Given the description of an element on the screen output the (x, y) to click on. 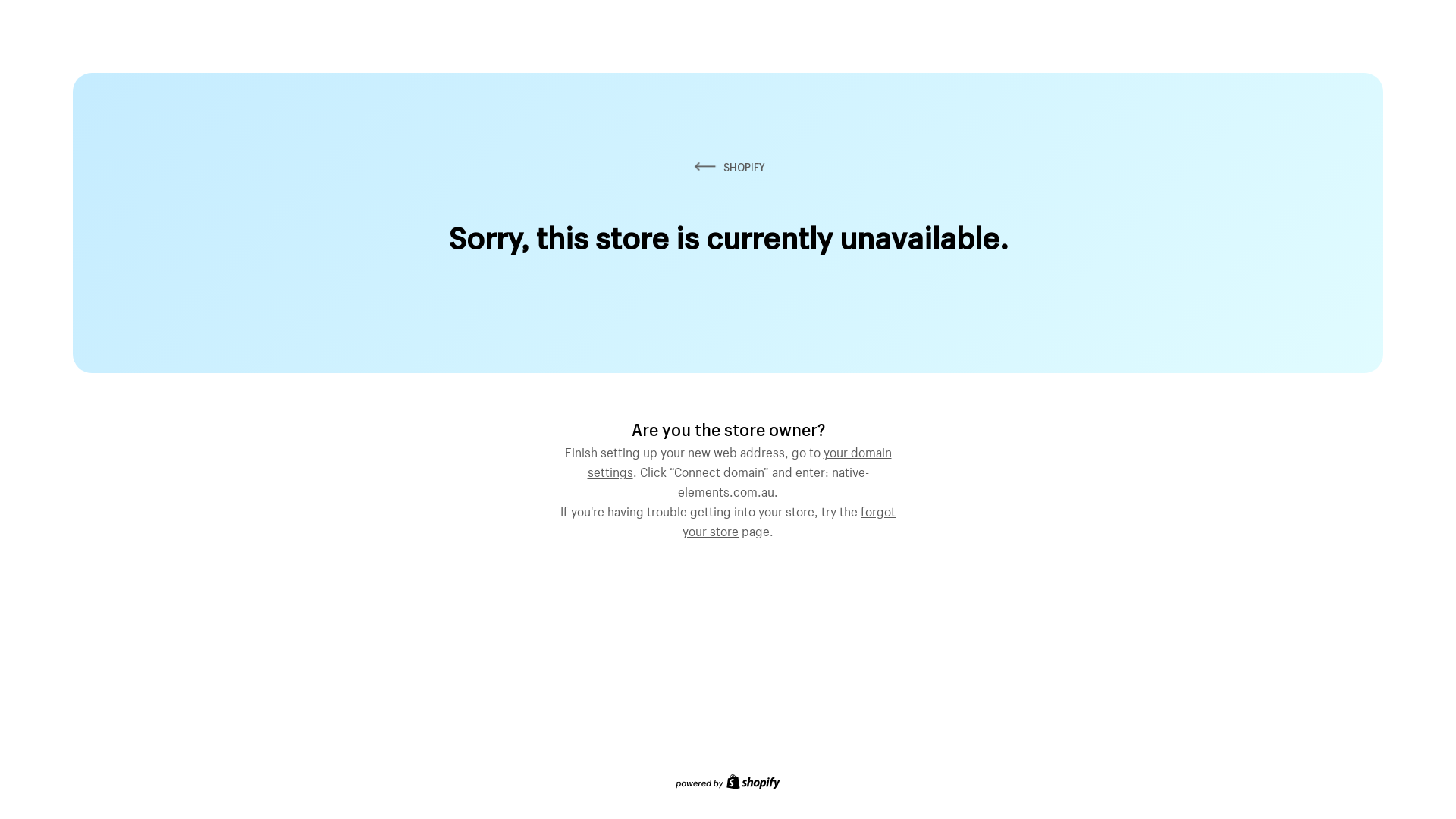
your domain settings Element type: text (738, 460)
SHOPIFY Element type: text (727, 167)
forgot your store Element type: text (788, 519)
